Given the description of an element on the screen output the (x, y) to click on. 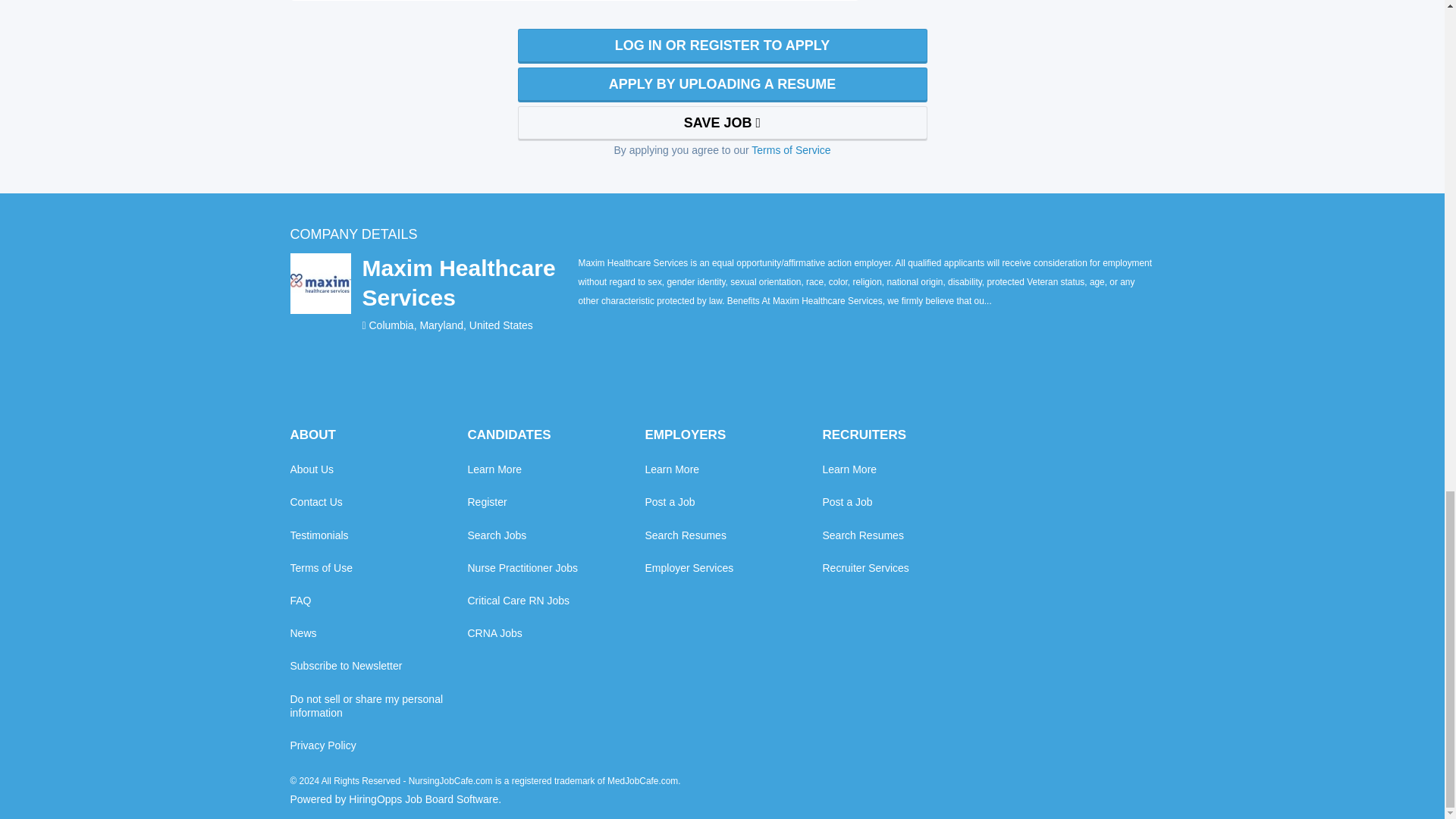
Terms of Service (790, 150)
APPLY BY UPLOADING A RESUME (721, 84)
Testimonials (318, 535)
Maxim Healthcare Services (469, 282)
Do not sell or share my personal information (378, 705)
Terms of Use (320, 567)
Subscribe to Newsletter (345, 665)
Privacy Policy (322, 745)
SAVE JOB (721, 123)
Learn More (494, 468)
FAQ (300, 600)
Contact Us (315, 501)
About Us (311, 468)
News (302, 632)
LOG IN OR REGISTER TO APPLY (721, 45)
